Given the description of an element on the screen output the (x, y) to click on. 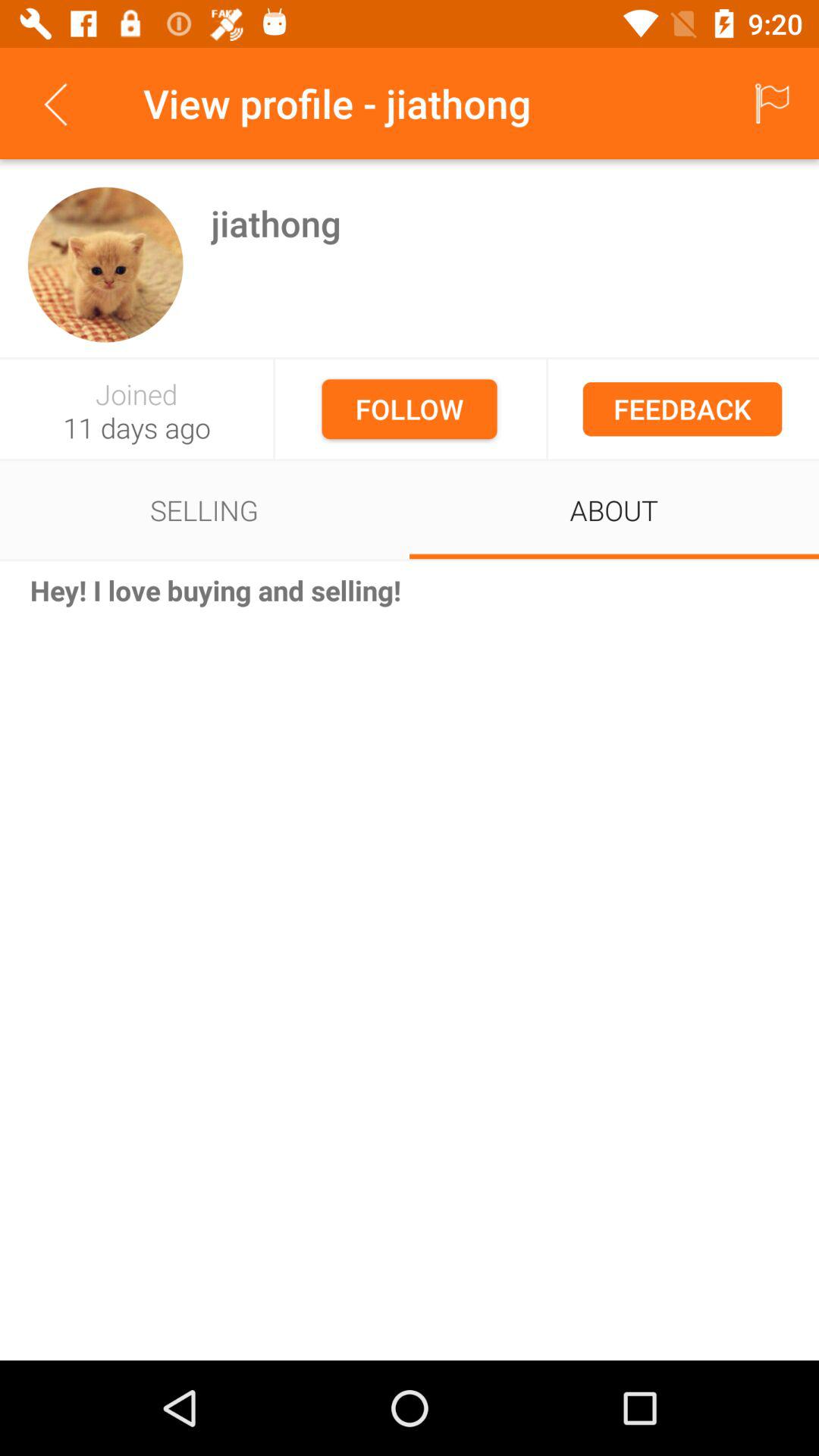
click the icon to the right of the view profile - jiathong icon (771, 103)
